Given the description of an element on the screen output the (x, y) to click on. 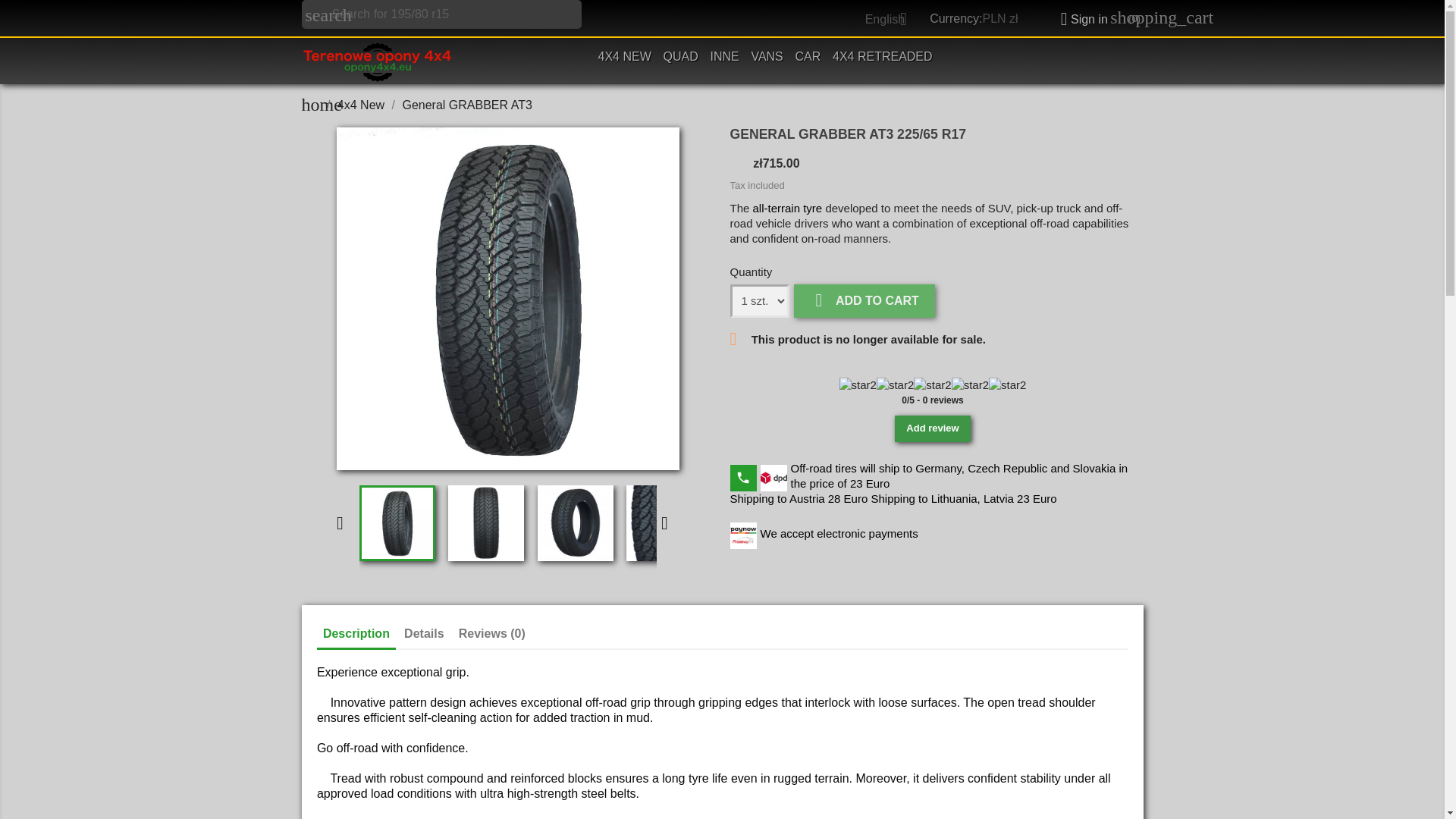
Log in to your customer account (1078, 19)
4X4 NEW (625, 57)
QUAD (681, 57)
Search (34, 14)
